Given the description of an element on the screen output the (x, y) to click on. 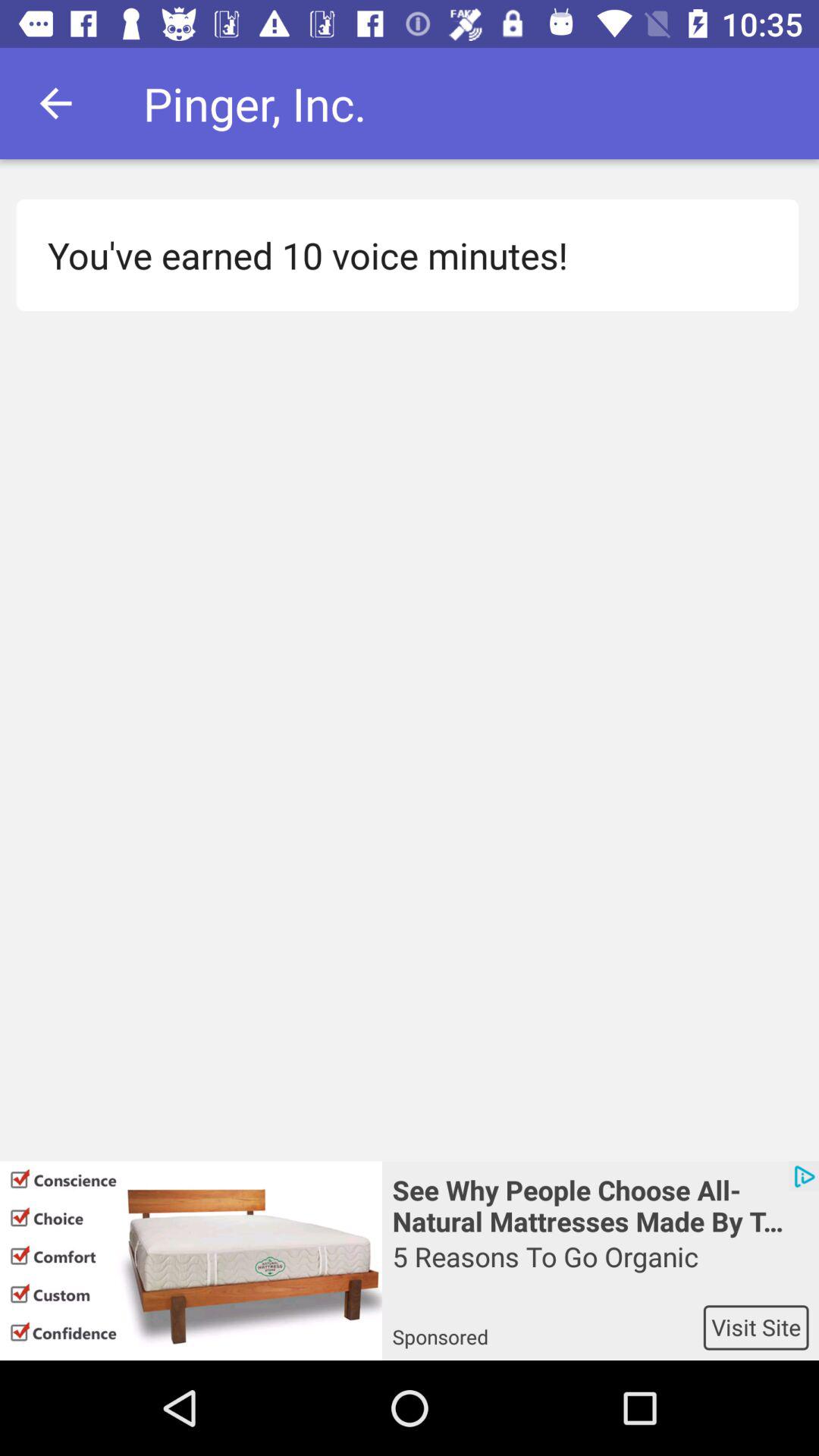
click the icon above the you ve earned icon (55, 103)
